Given the description of an element on the screen output the (x, y) to click on. 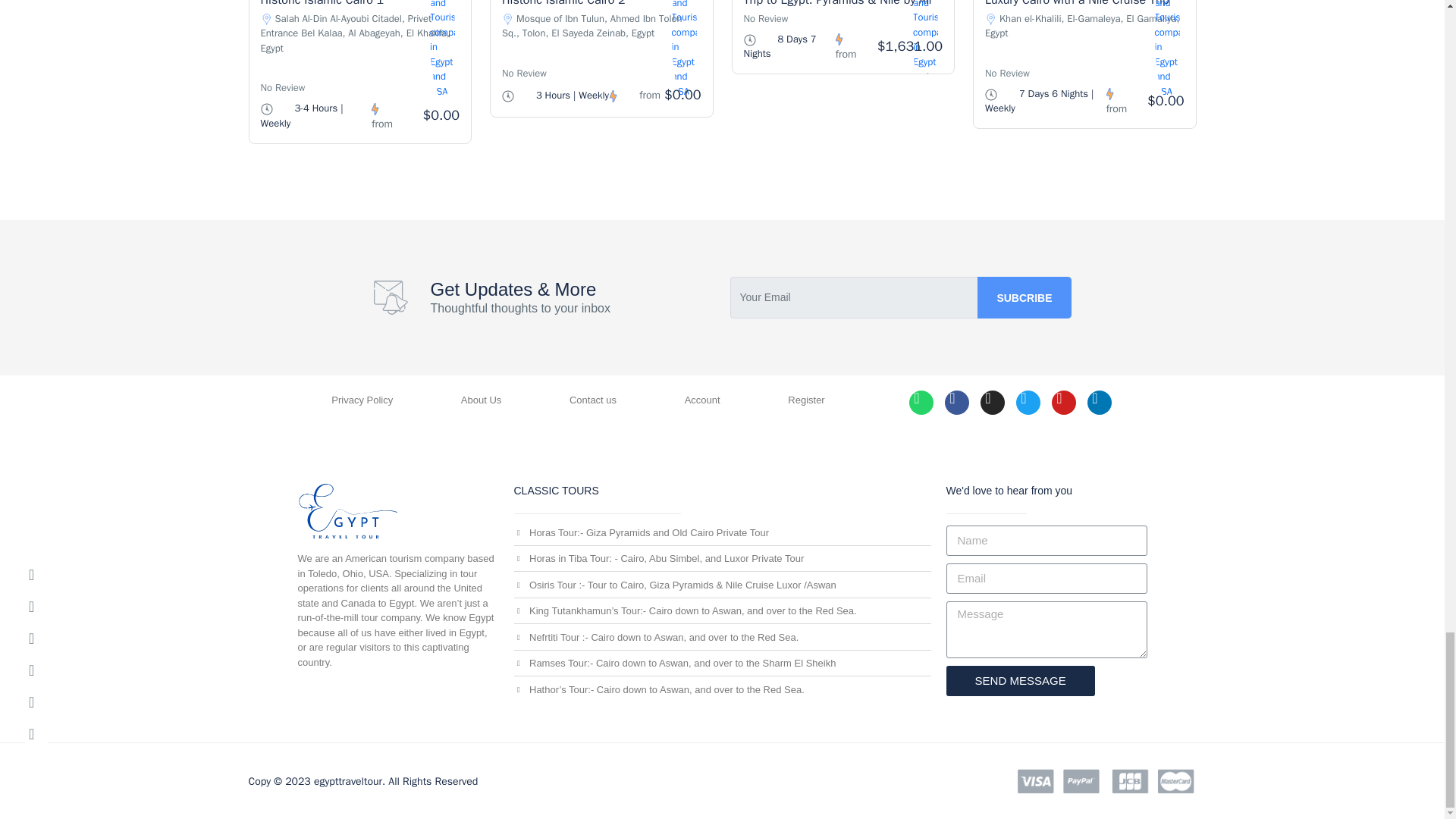
Subcribe (1023, 297)
